Given the description of an element on the screen output the (x, y) to click on. 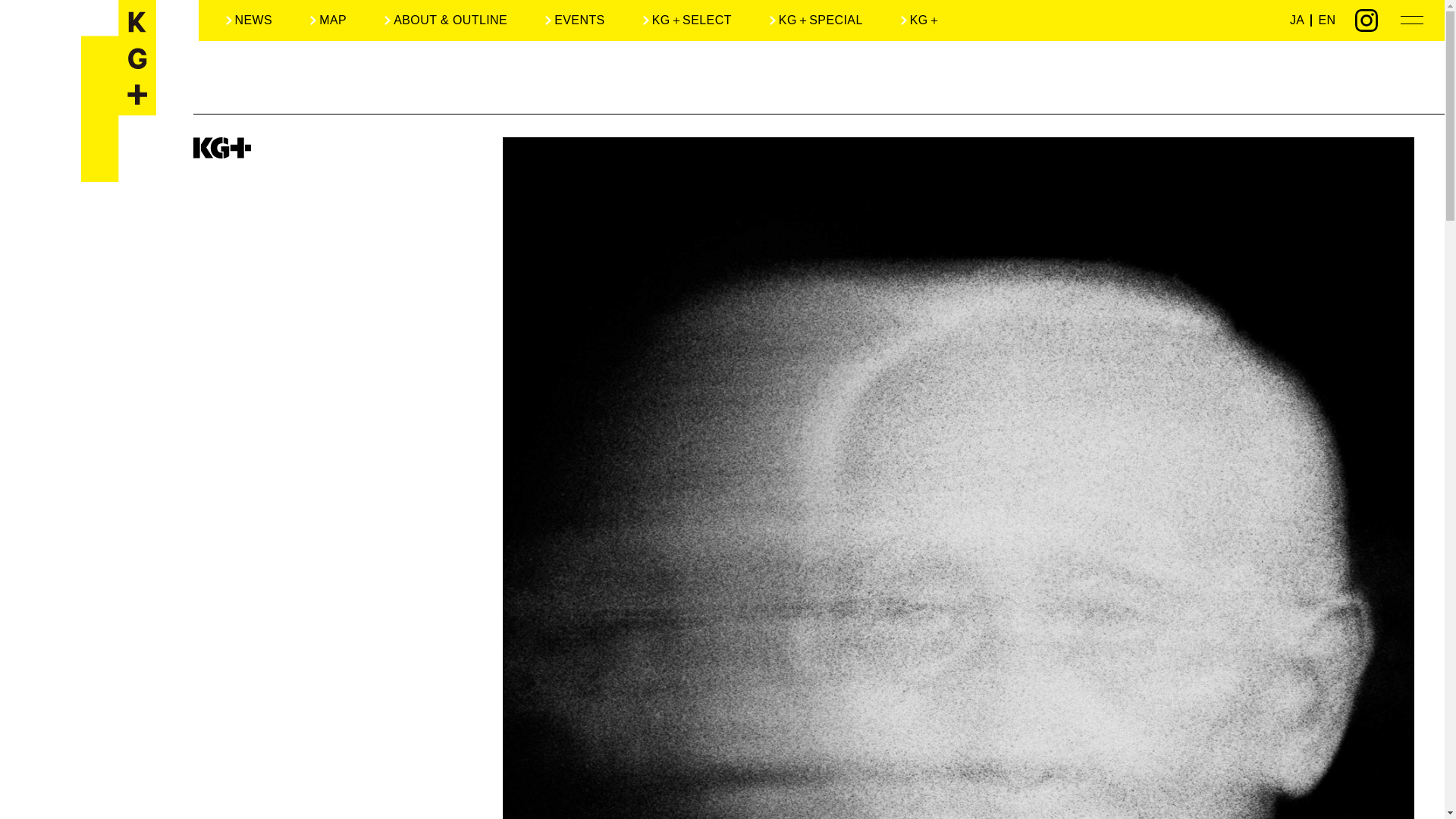
MAP (328, 20)
JA (1297, 19)
EN (1326, 19)
NEWS (249, 20)
EVENTS (574, 20)
